Given the description of an element on the screen output the (x, y) to click on. 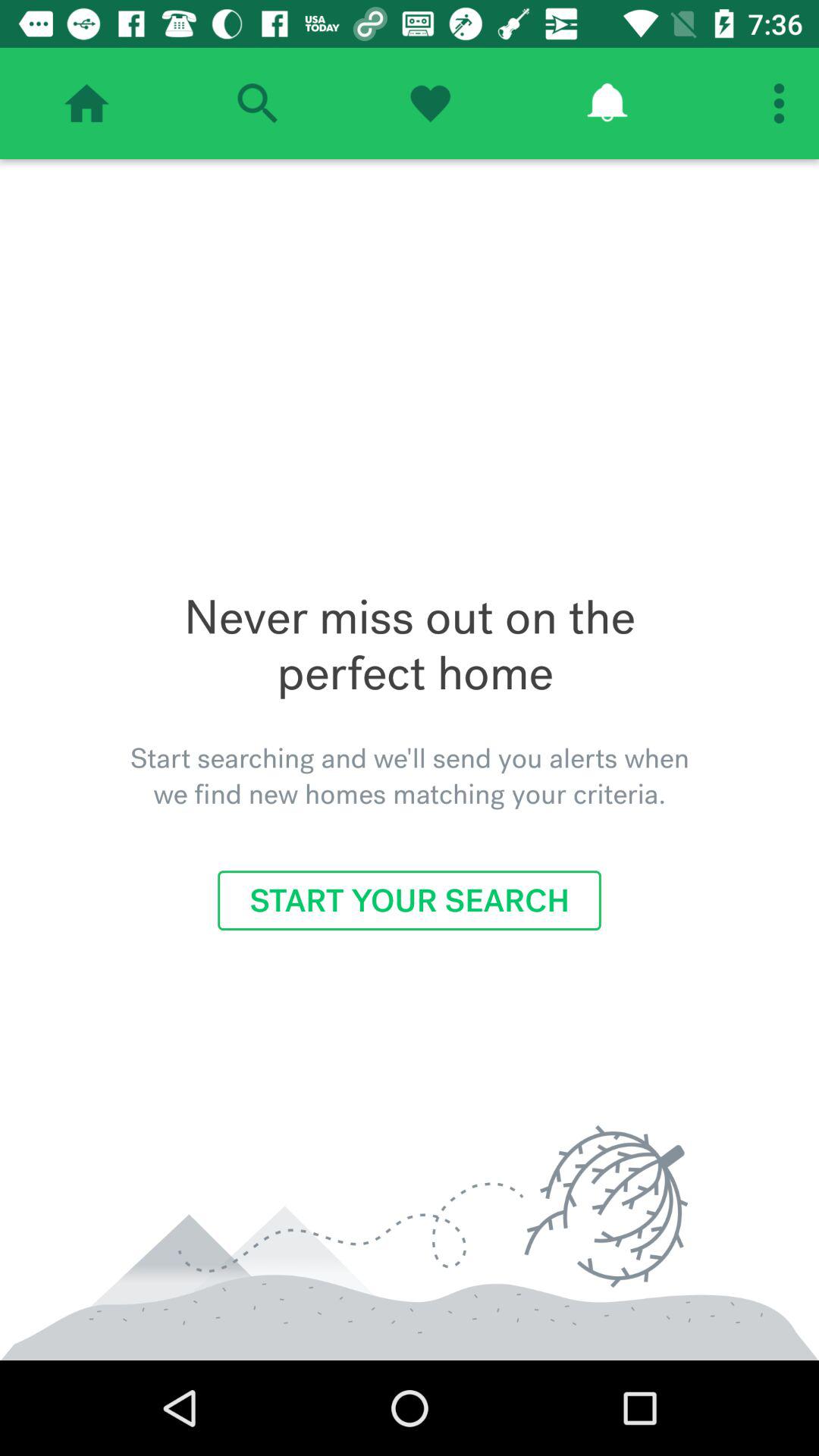
show favourites (429, 103)
